Given the description of an element on the screen output the (x, y) to click on. 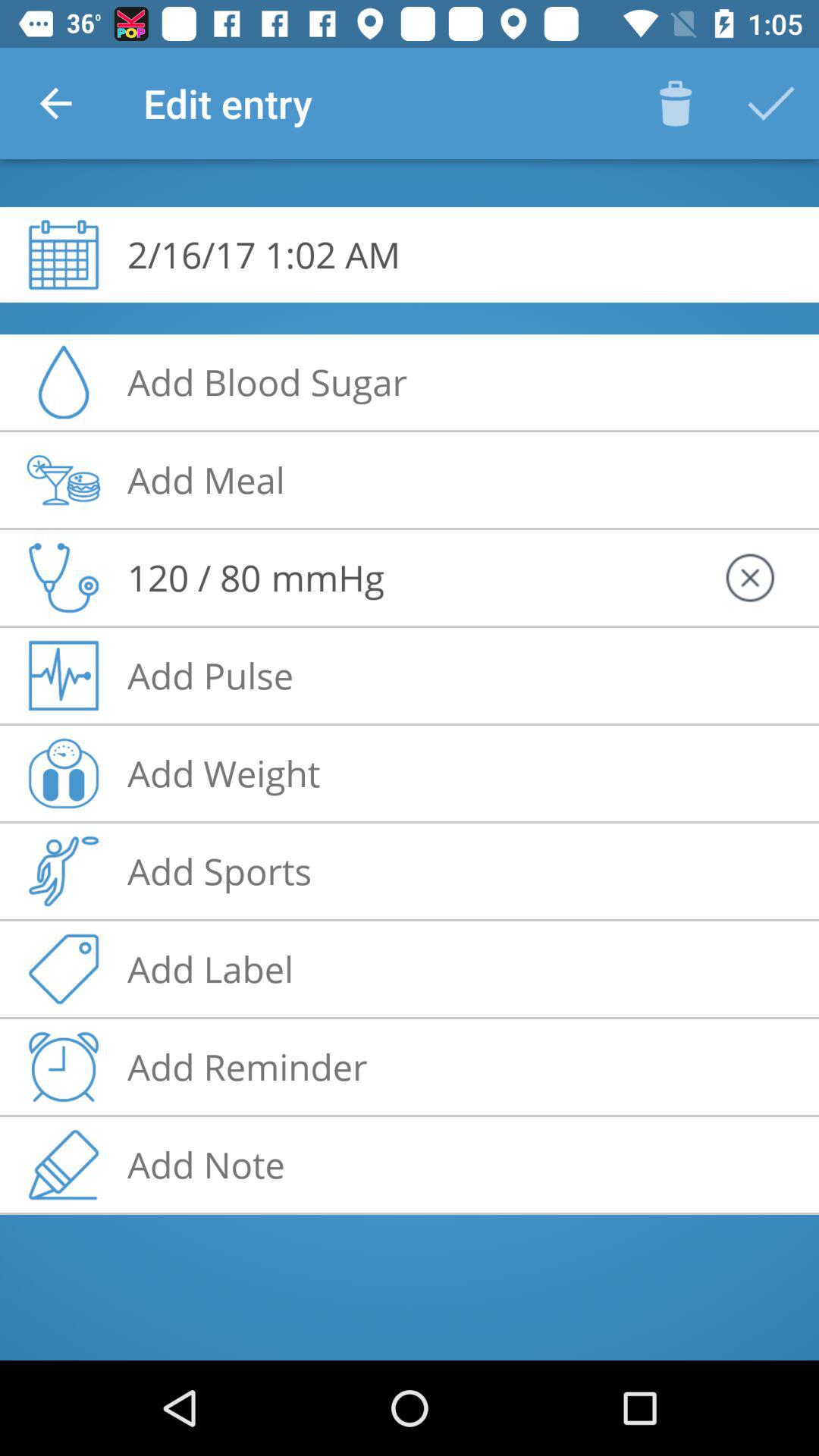
jump to 120 / 80 icon (194, 577)
